Given the description of an element on the screen output the (x, y) to click on. 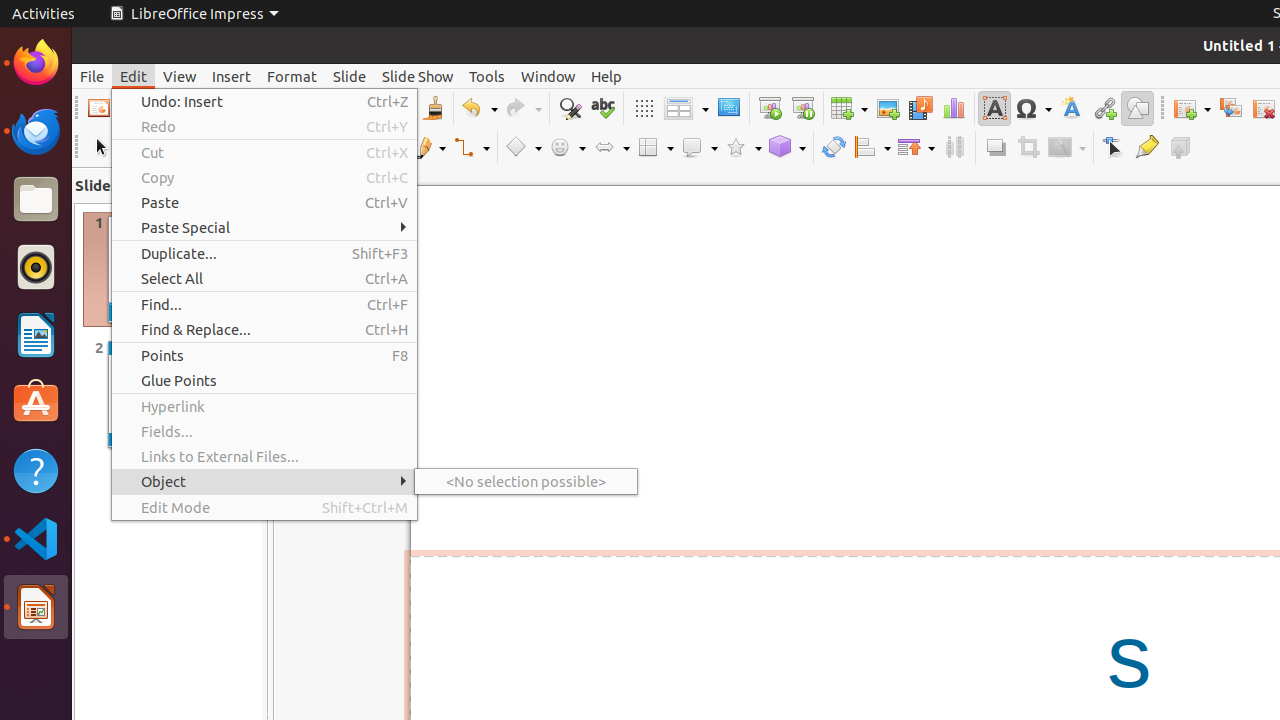
LibreOffice Impress Element type: menu (193, 13)
Insert Element type: menu (231, 76)
File Element type: menu (92, 76)
Visual Studio Code Element type: push-button (36, 538)
Format Element type: menu (292, 76)
